Given the description of an element on the screen output the (x, y) to click on. 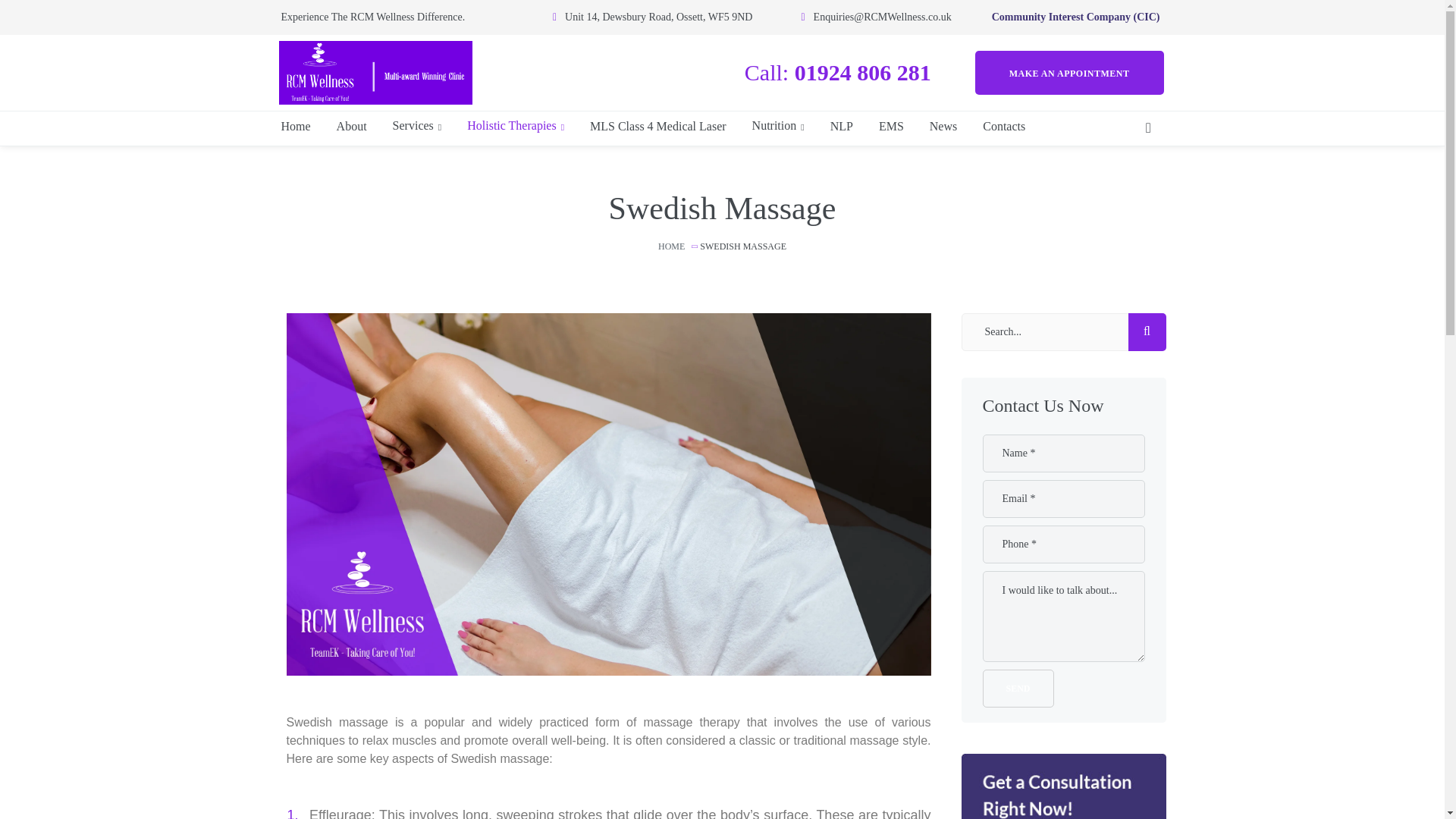
About (351, 126)
Services (417, 125)
Send (1018, 688)
Home (294, 126)
MAKE AN APPOINTMENT (1069, 72)
